Given the description of an element on the screen output the (x, y) to click on. 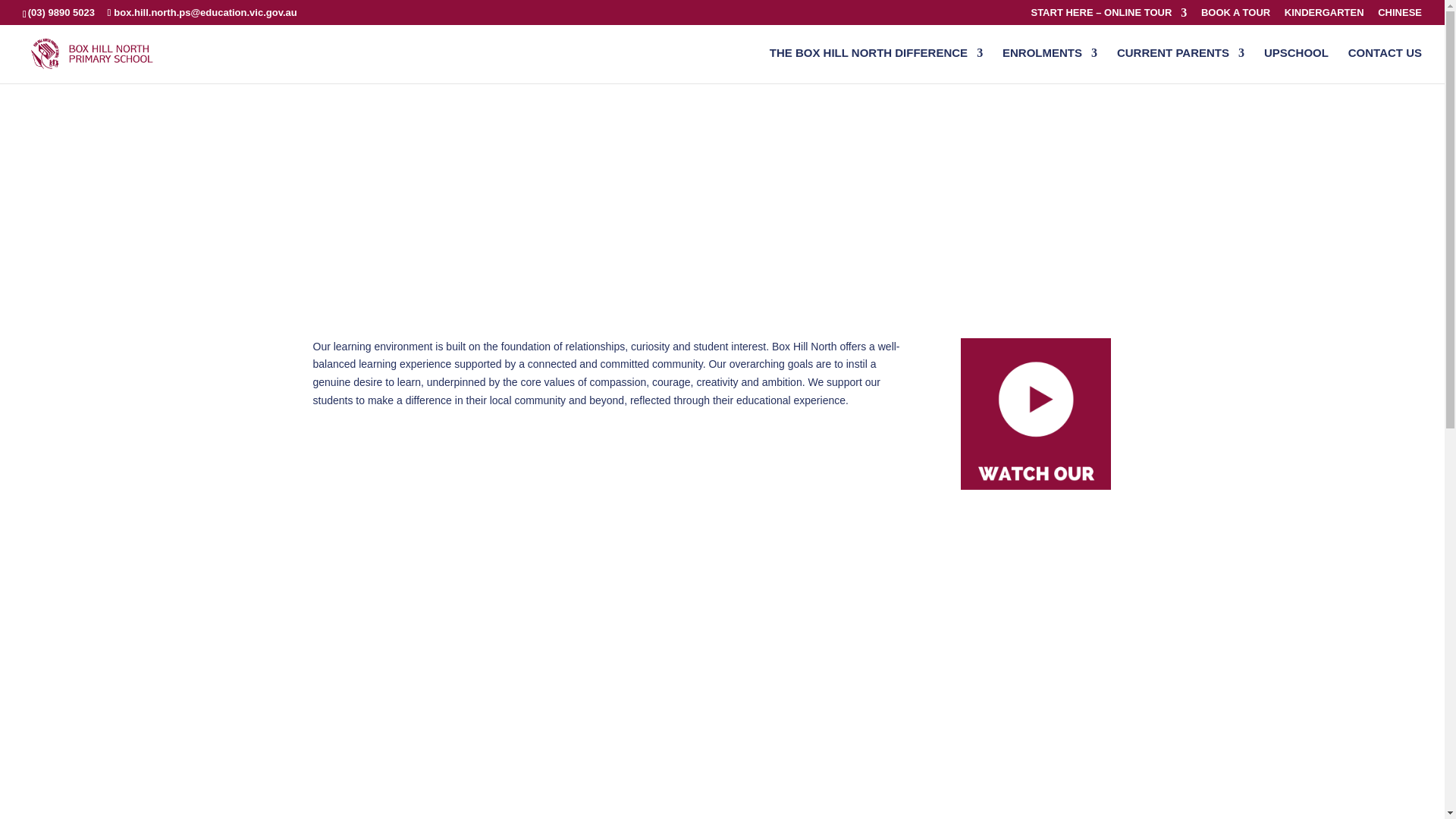
CHINESE (1399, 16)
KINDERGARTEN (1324, 16)
BOOK A TOUR (1235, 16)
Box Hill - Online Tour (1035, 578)
THE BOX HILL NORTH DIFFERENCE (876, 65)
